Given the description of an element on the screen output the (x, y) to click on. 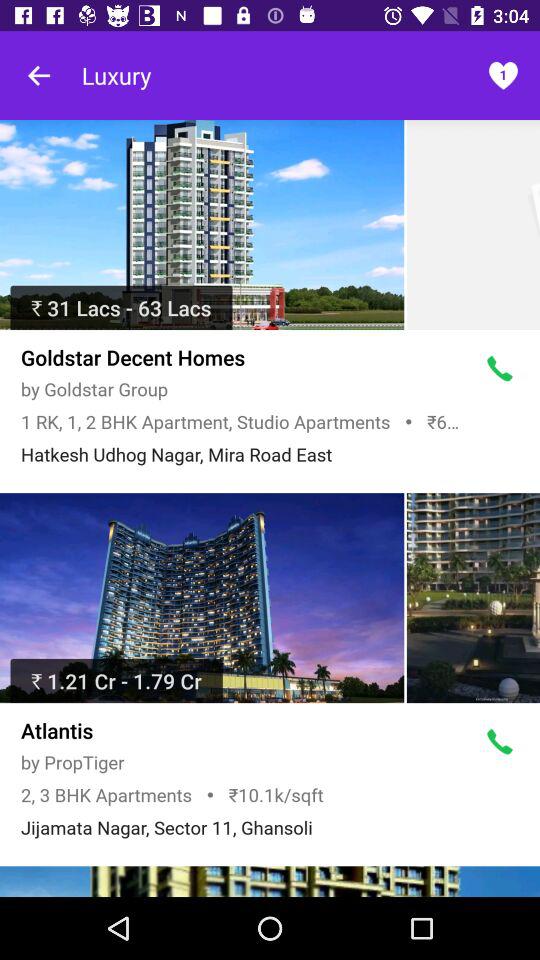
phone this business (500, 369)
